Given the description of an element on the screen output the (x, y) to click on. 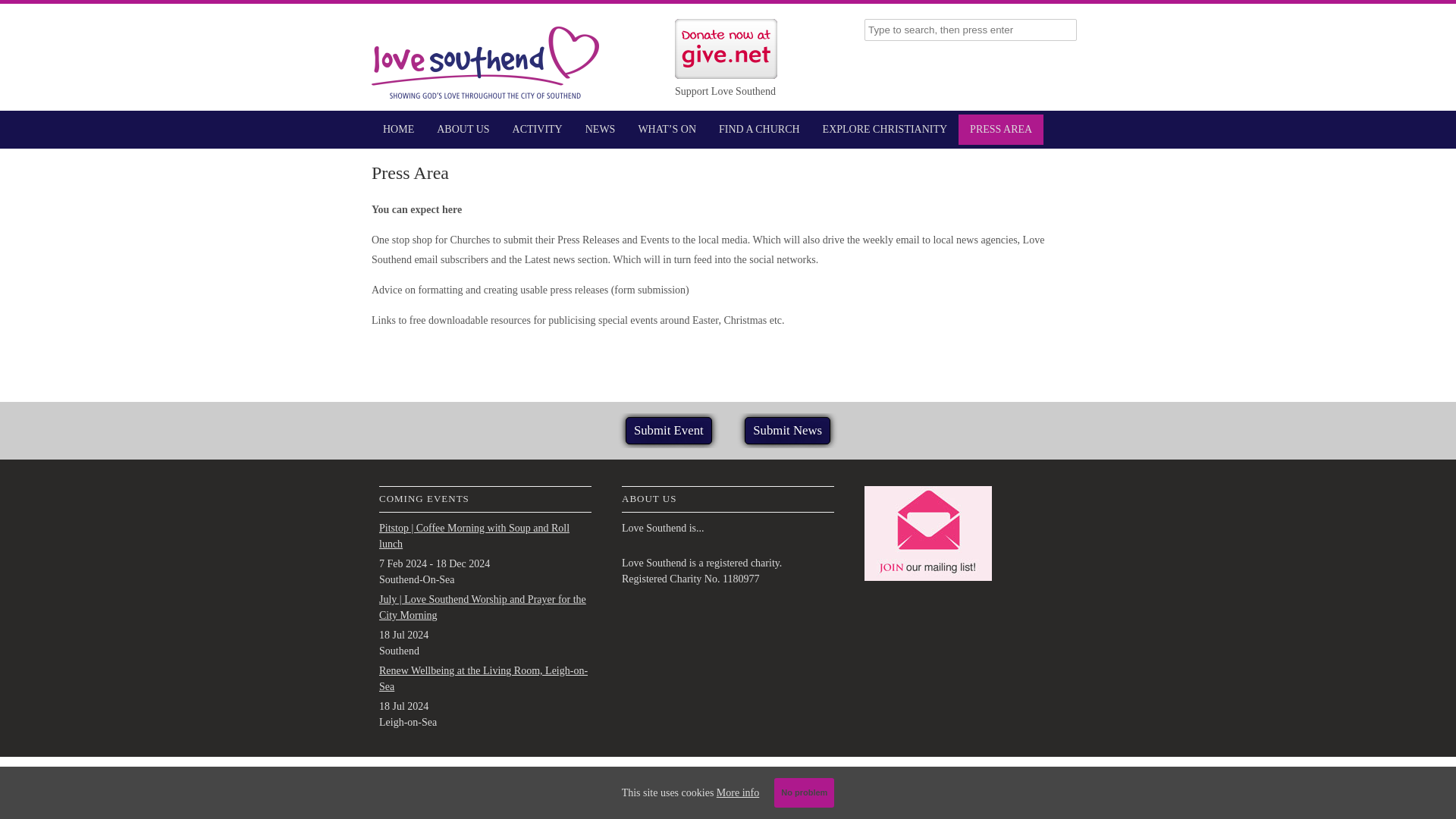
HOME (398, 129)
Submit Event (668, 430)
ACTIVITY (536, 129)
FIND A CHURCH (758, 129)
ABOUT US (462, 129)
Site-Street. (827, 780)
Type to search, then press enter (970, 29)
EXPLORE CHRISTIANITY (884, 129)
PRESS AREA (1000, 129)
Renew Wellbeing at the Living Room, Leigh-on-Sea (483, 678)
NEWS (600, 129)
More info (737, 792)
Submit News (786, 430)
Search (23, 10)
